Given the description of an element on the screen output the (x, y) to click on. 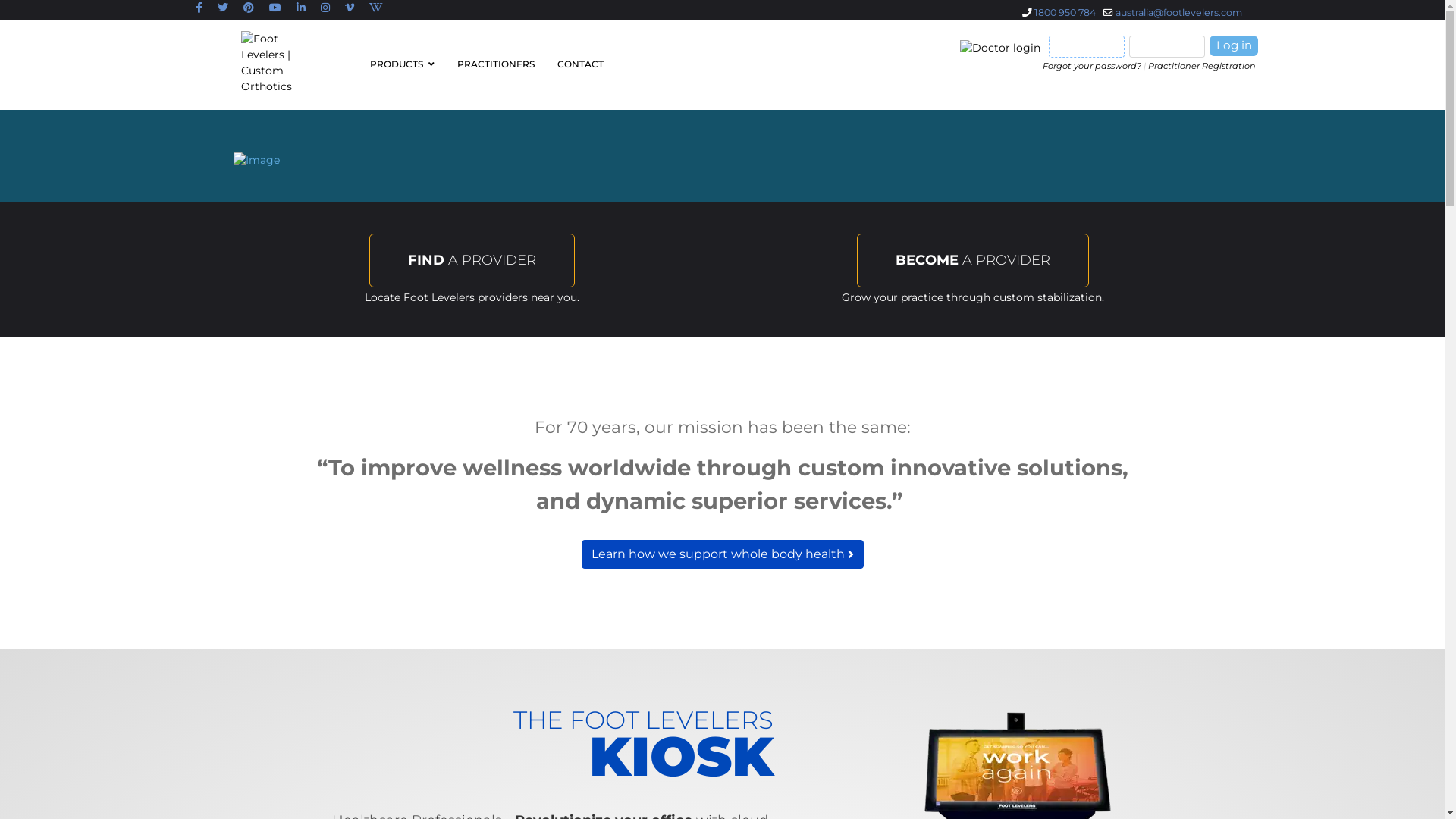
Learn how we support whole body health Element type: text (721, 553)
Practitioner Registration Element type: text (1201, 65)
PRODUCTS Element type: text (401, 64)
1800 950 784 Element type: text (1064, 12)
PRACTITIONERS Element type: text (495, 64)
FIND A PROVIDER Element type: text (471, 260)
BECOME A PROVIDER Element type: text (972, 260)
CONTACT Element type: text (574, 64)
Forgot your password? Element type: text (1091, 65)
Doctor login Element type: hover (1002, 46)
Doctor login Element type: hover (1000, 48)
Log in Element type: text (1233, 45)
